Given the description of an element on the screen output the (x, y) to click on. 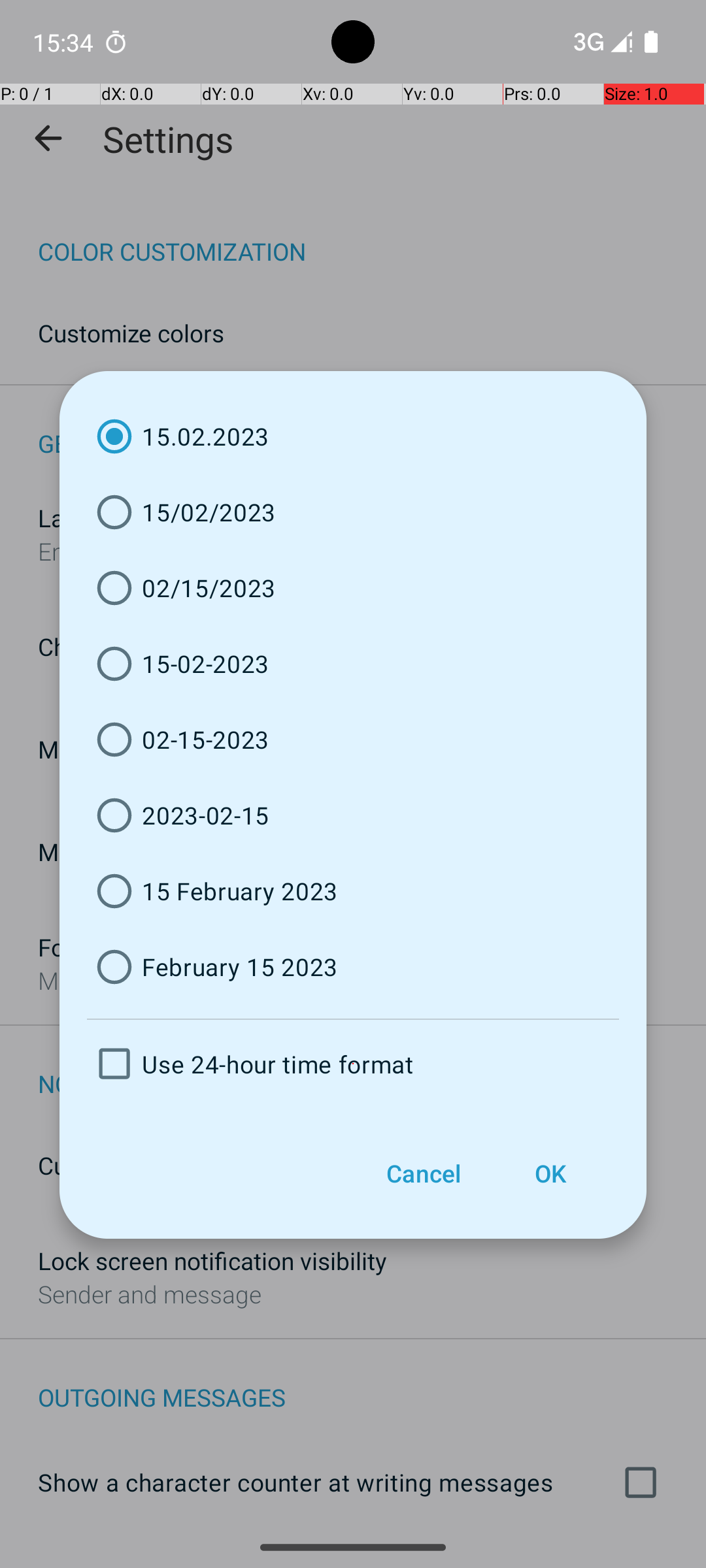
15.02.2023 Element type: android.widget.RadioButton (352, 436)
15/02/2023 Element type: android.widget.RadioButton (352, 512)
02/15/2023 Element type: android.widget.RadioButton (352, 587)
15-02-2023 Element type: android.widget.RadioButton (352, 663)
02-15-2023 Element type: android.widget.RadioButton (352, 739)
2023-02-15 Element type: android.widget.RadioButton (352, 815)
15 February 2023 Element type: android.widget.RadioButton (352, 891)
February 15 2023 Element type: android.widget.RadioButton (352, 966)
